Given the description of an element on the screen output the (x, y) to click on. 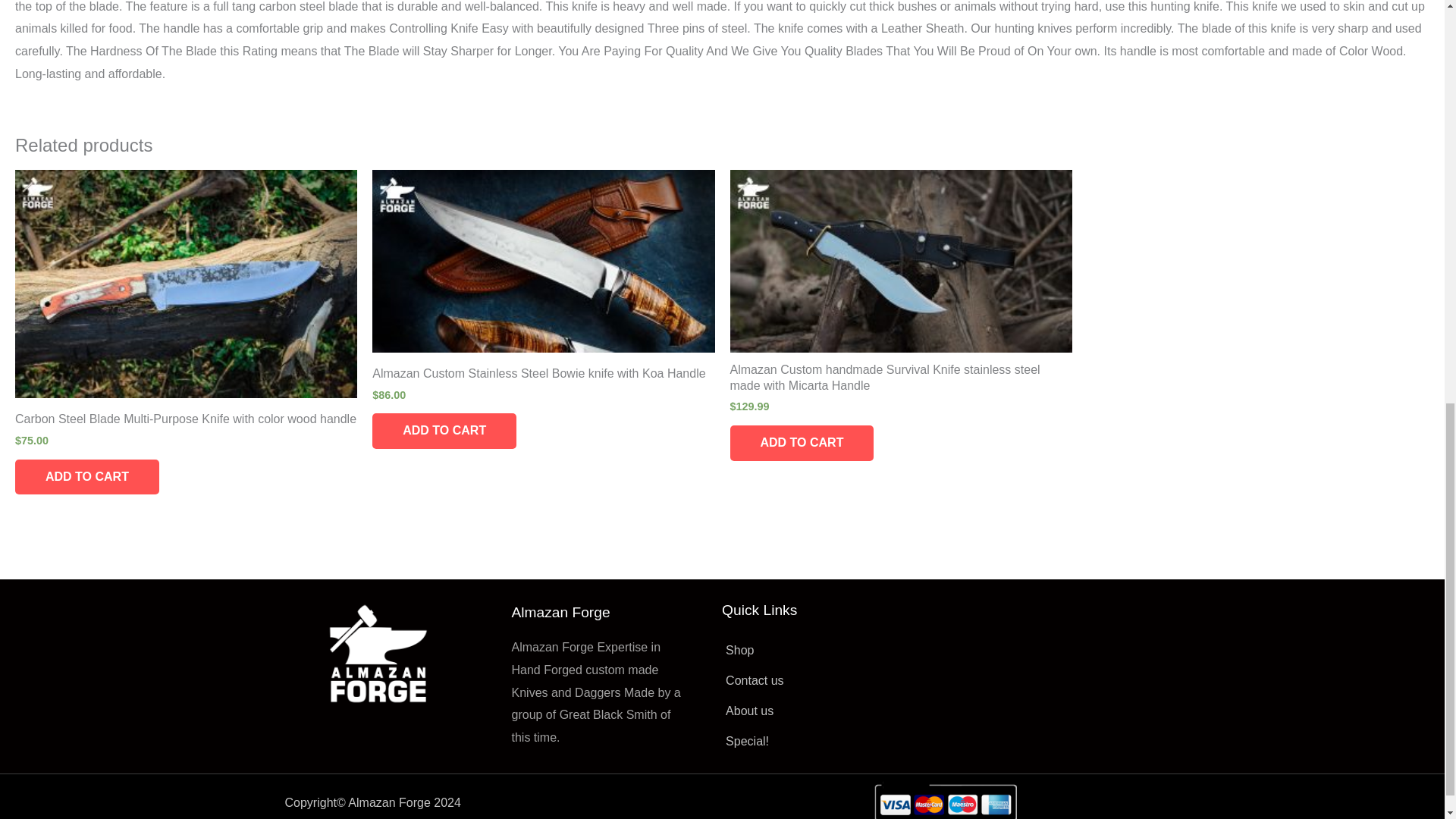
Shop (839, 650)
ADD TO CART (444, 430)
Almazan Custom Stainless Steel Bowie knife with Koa Handle (543, 377)
Contact us (839, 680)
About us (839, 711)
ADD TO CART (86, 477)
ADD TO CART (801, 443)
Special! (839, 741)
